Given the description of an element on the screen output the (x, y) to click on. 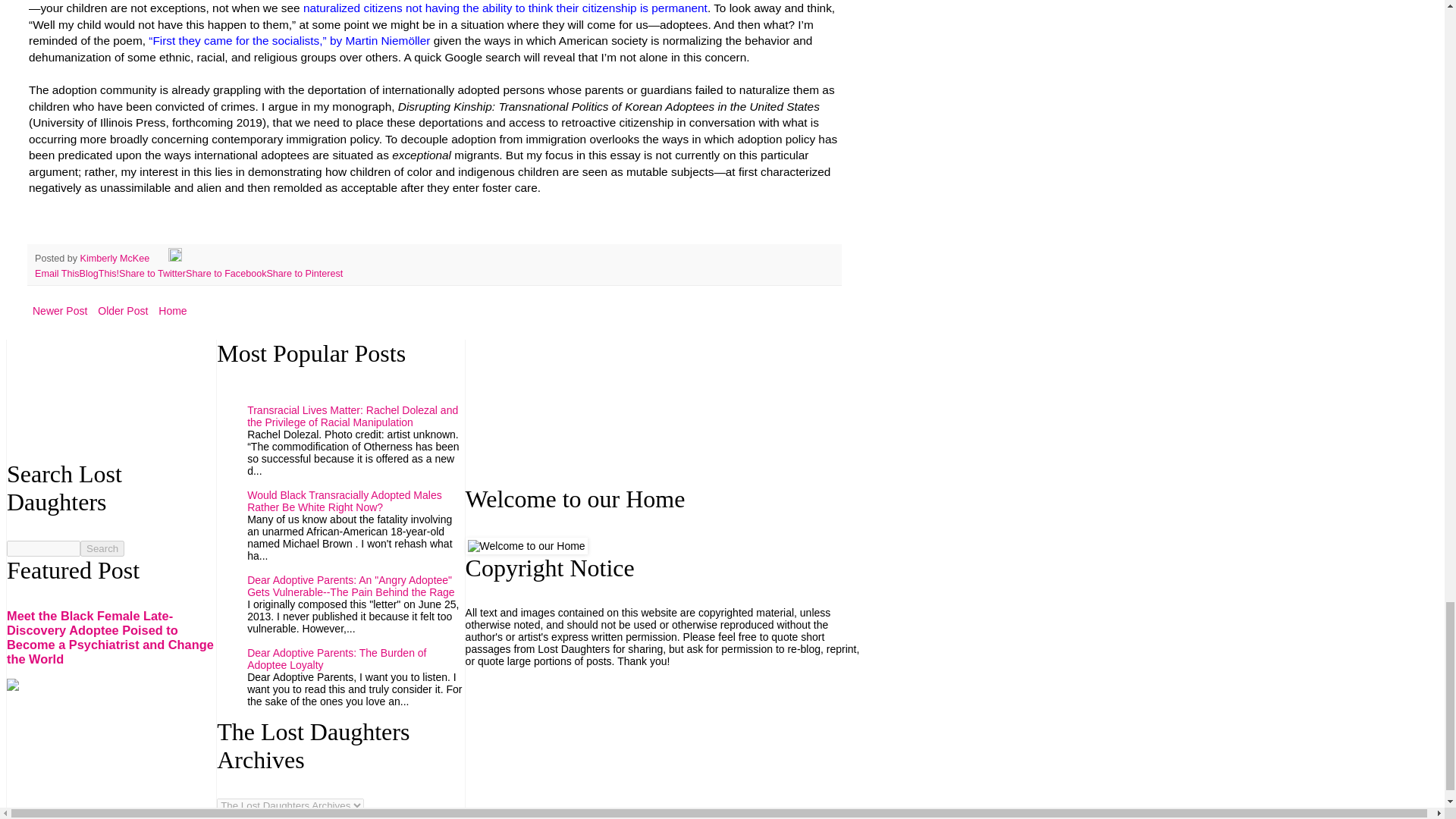
Share to Pinterest (304, 273)
Share to Twitter (152, 273)
author profile (116, 258)
Email Post (160, 258)
Older Post (122, 311)
Edit Post (175, 258)
Share to Facebook (226, 273)
Email This (57, 273)
Search (101, 548)
BlogThis! (99, 273)
Newer Post (59, 311)
search (101, 548)
search (43, 548)
Search (101, 548)
